Given the description of an element on the screen output the (x, y) to click on. 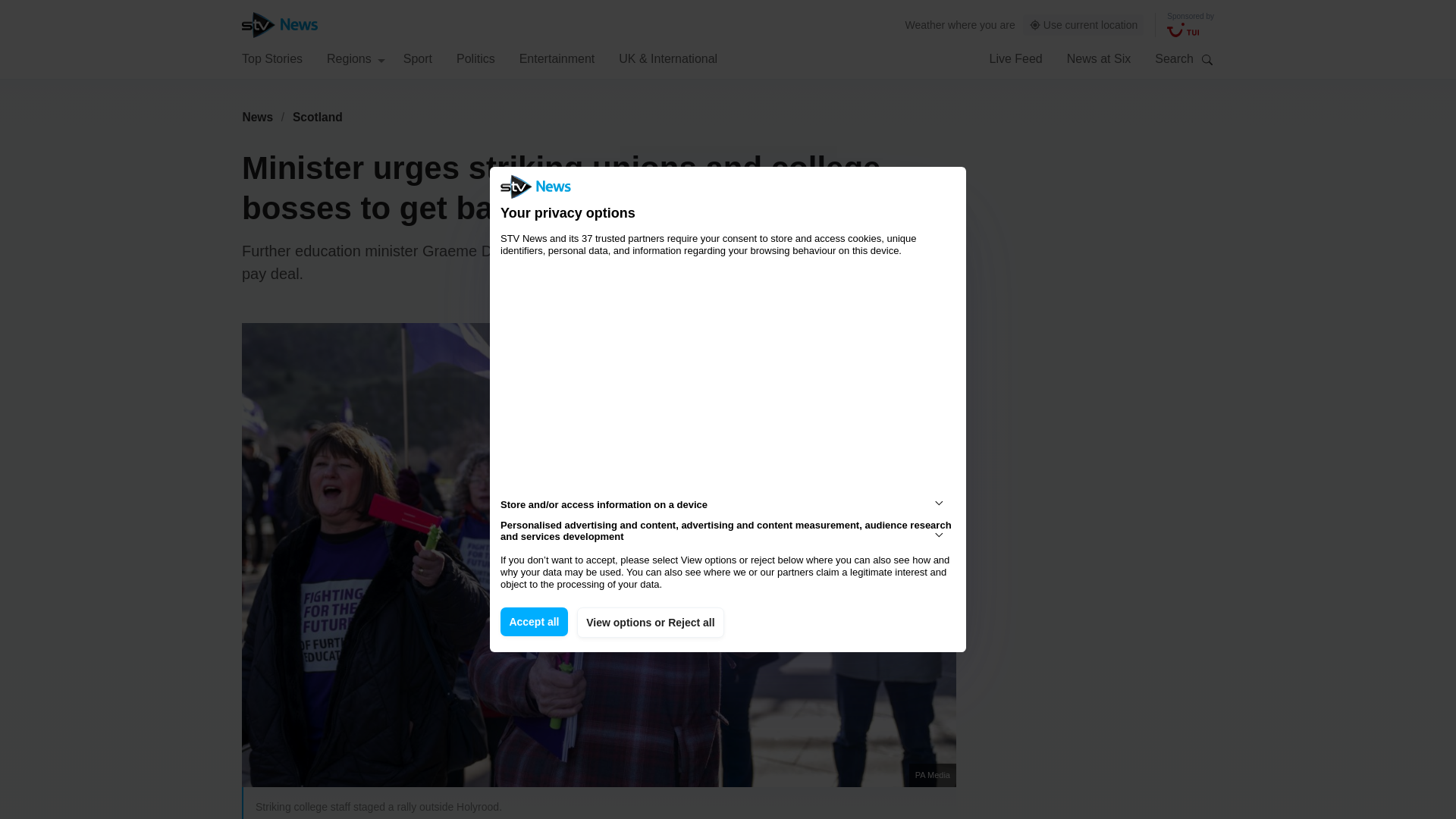
Scotland (317, 116)
Search (1206, 59)
Entertainment (557, 57)
Regions (355, 57)
News (257, 116)
News at Six (1099, 57)
Politics (476, 57)
Top Stories (271, 57)
Live Feed (1015, 57)
